Given the description of an element on the screen output the (x, y) to click on. 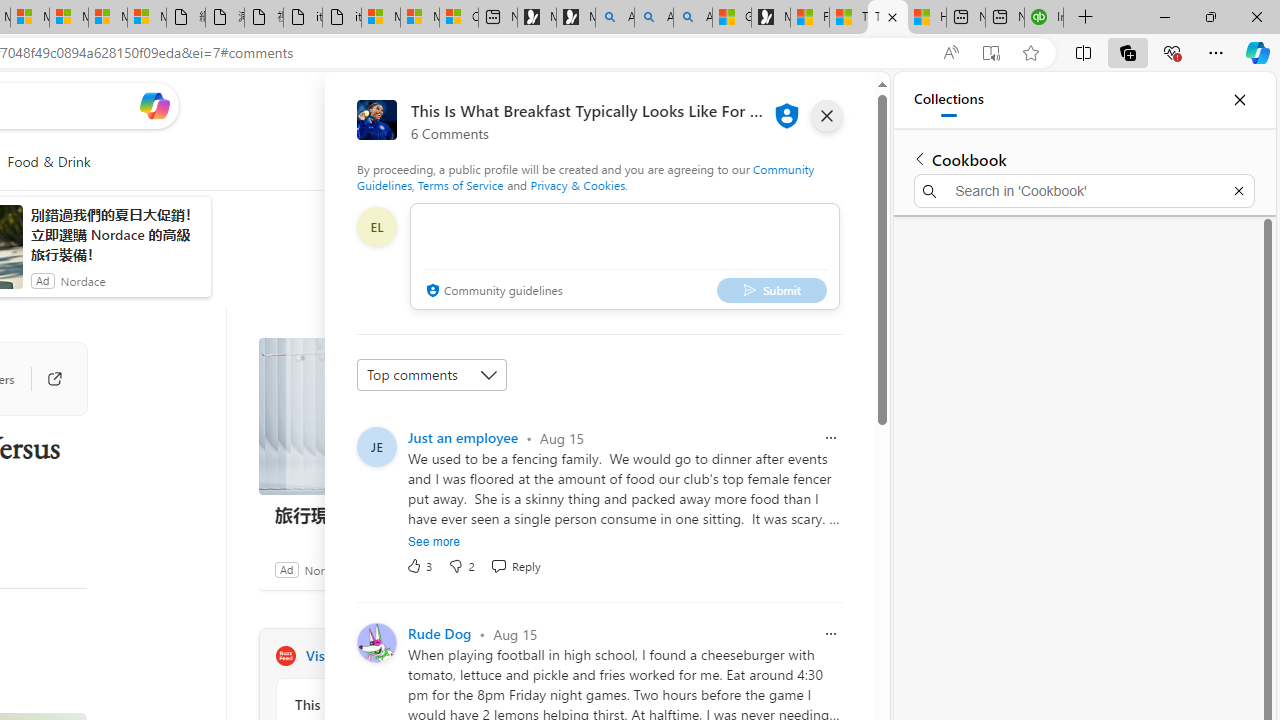
Search in 'Cookbook' (1084, 190)
Go to publisher's site (44, 378)
Profile Picture (376, 642)
Consumer Health Data Privacy Policy (458, 17)
Intuit QuickBooks Online - Quickbooks (1044, 17)
Food and Drink - MSN (810, 17)
